Given the description of an element on the screen output the (x, y) to click on. 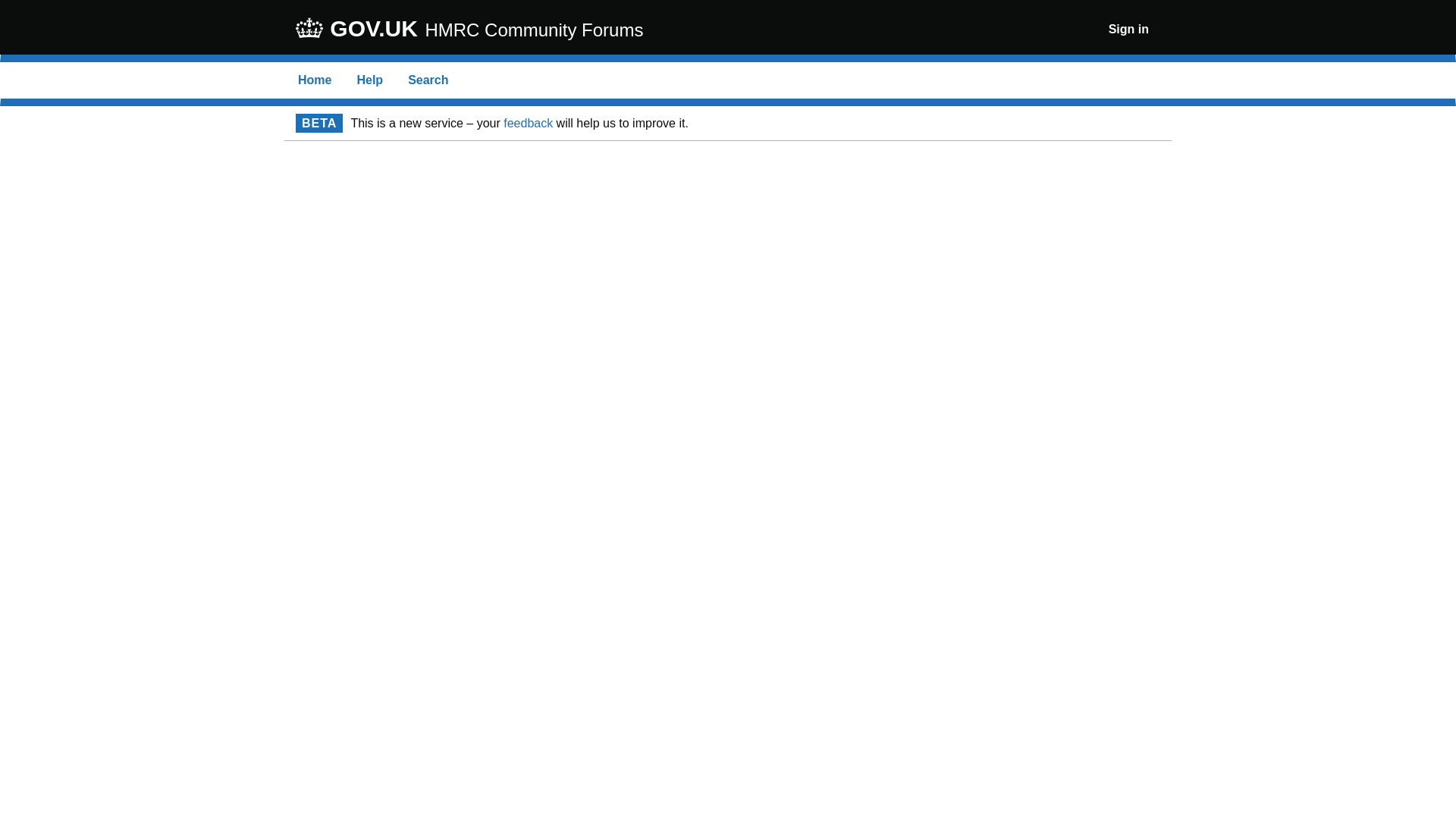
Help (369, 79)
Help (369, 79)
Search (427, 79)
Home (314, 79)
Search (427, 79)
HMRC Community Forums (534, 29)
Home (314, 79)
feedback (528, 123)
Sign in (1128, 29)
GOV.UK (358, 28)
Sign in (1128, 29)
Skip to main content (11, 7)
